Given the description of an element on the screen output the (x, y) to click on. 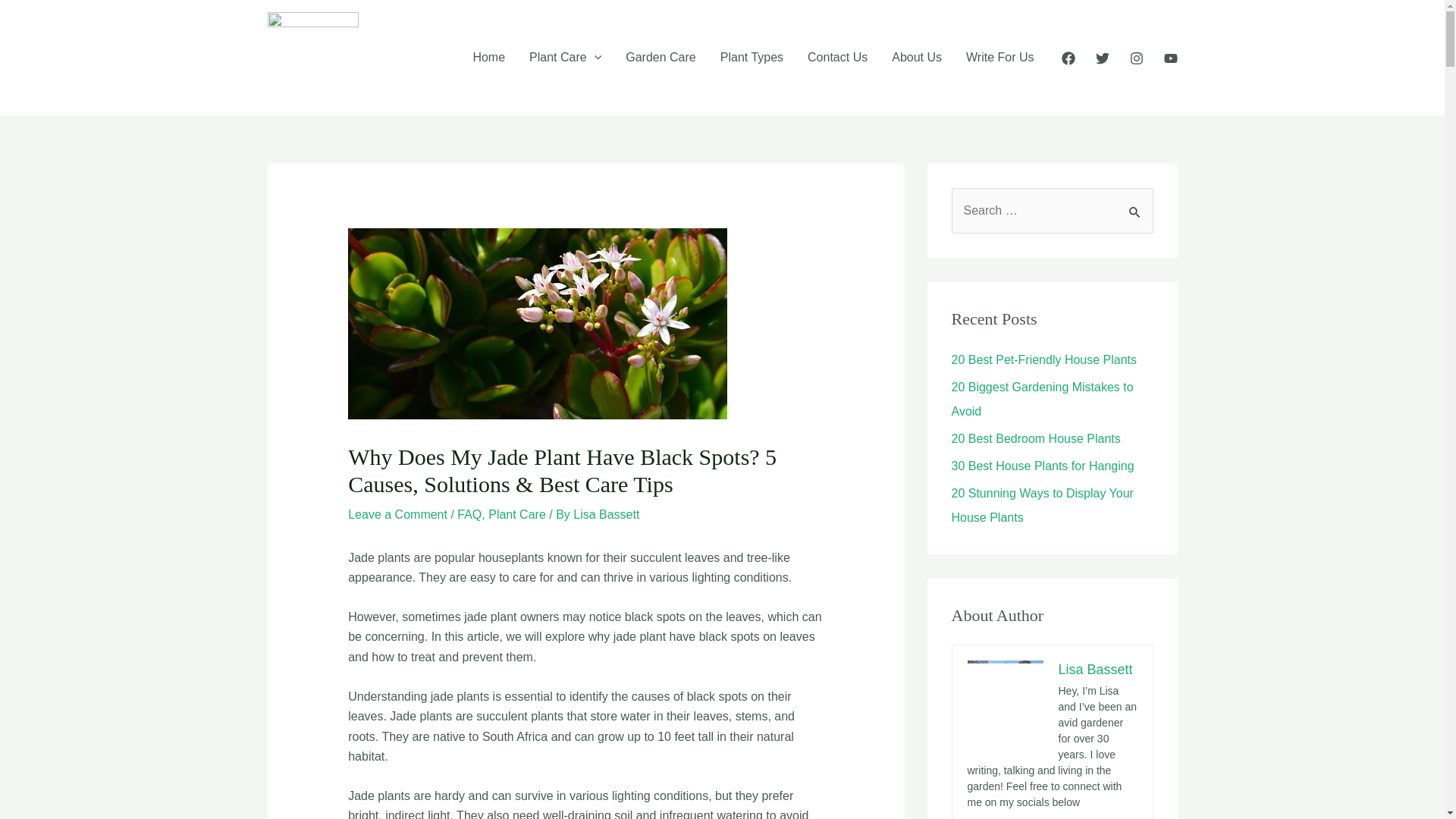
Contact Us (836, 57)
View all posts by Lisa Bassett (606, 513)
Search (1136, 204)
Write For Us (999, 57)
Leave a Comment (396, 513)
About Us (916, 57)
Plant Types (750, 57)
Home (488, 57)
Search (1136, 204)
Garden Care (659, 57)
